Given the description of an element on the screen output the (x, y) to click on. 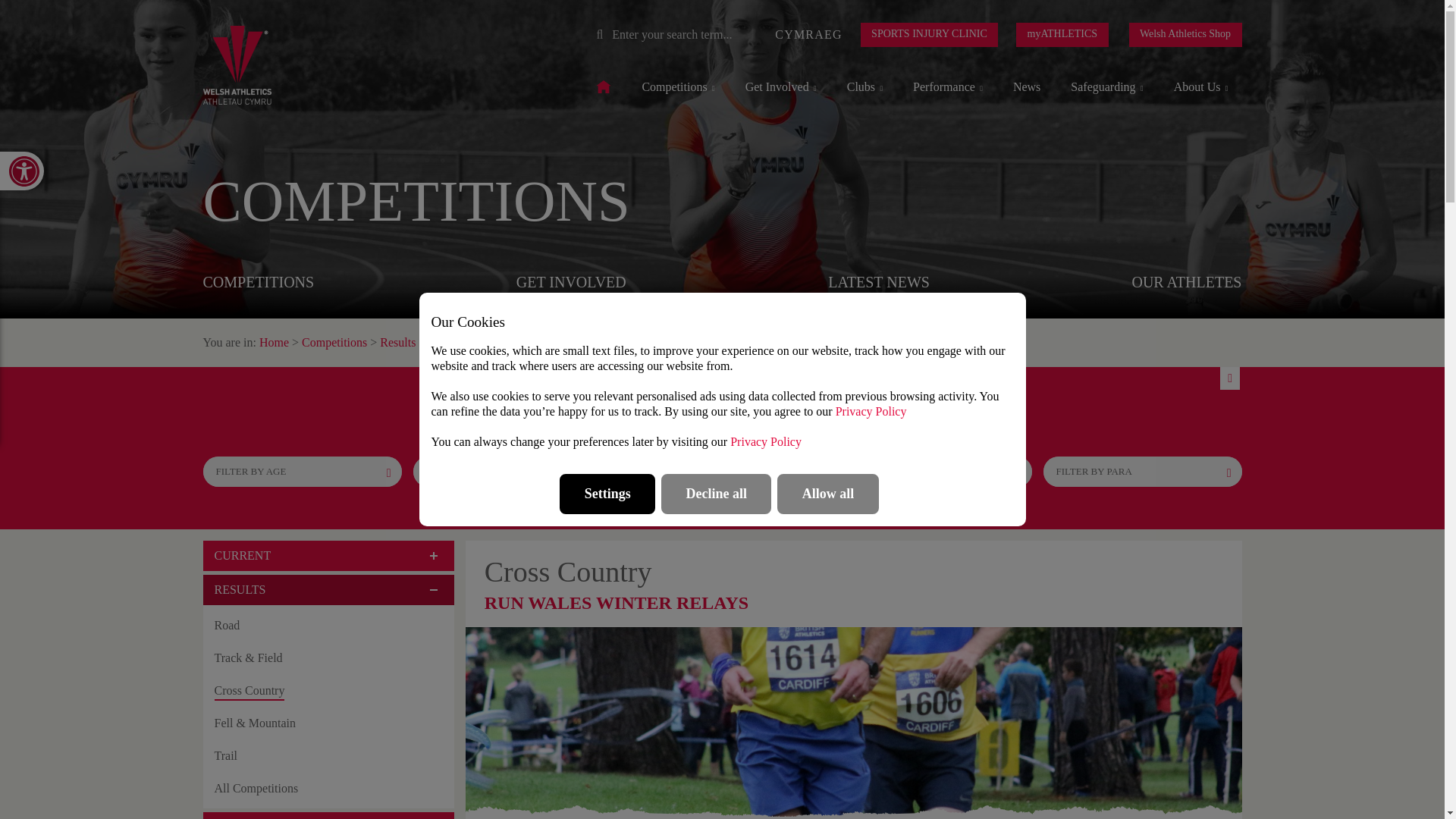
Accessibility (21, 170)
